Given the description of an element on the screen output the (x, y) to click on. 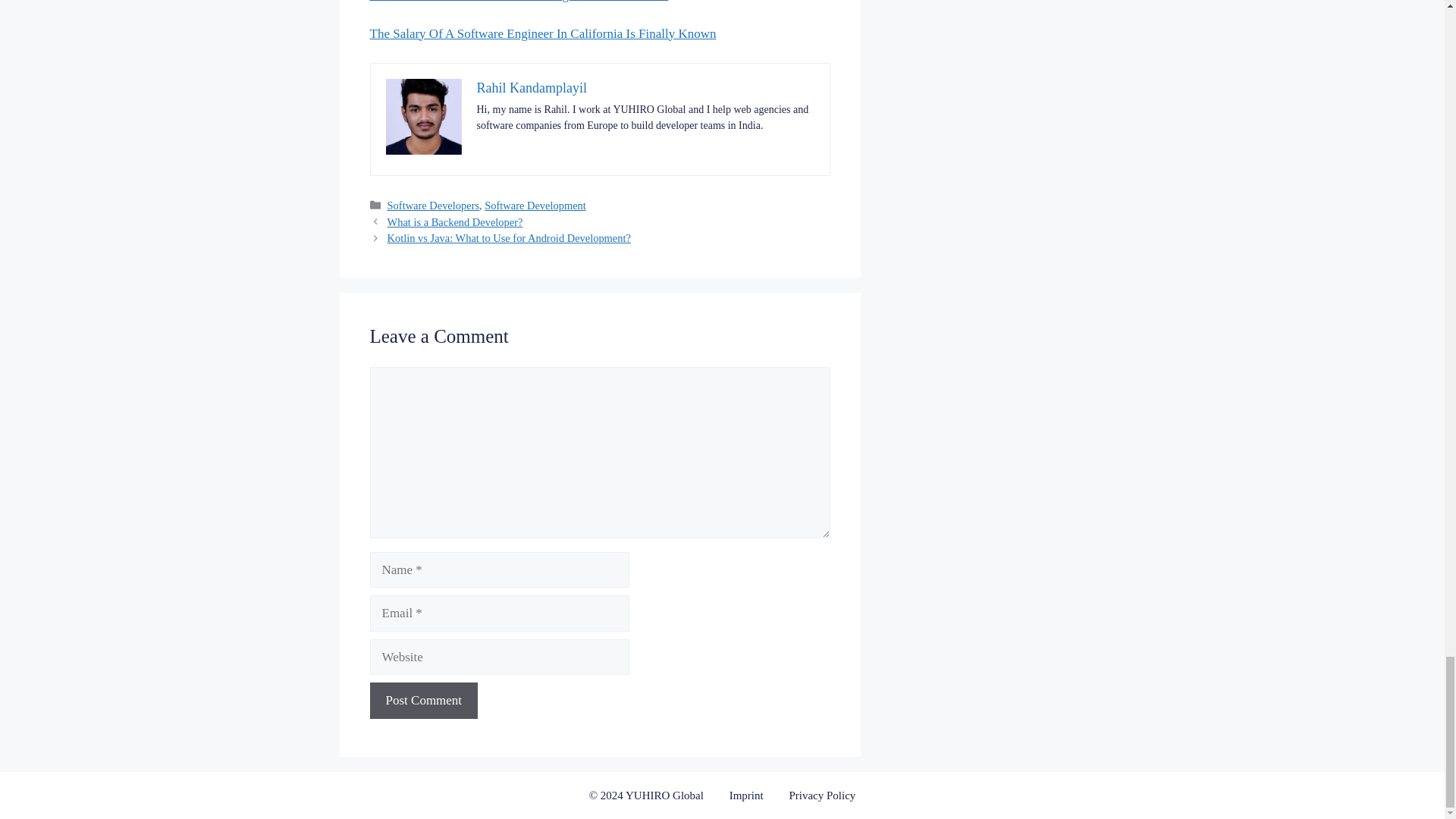
Software Developers (433, 205)
Rahil Kandamplayil (531, 87)
Post Comment (424, 700)
Software Development (535, 205)
What is a Backend Developer? (454, 222)
Kotlin vs Java: What to Use for Android Development? (508, 237)
Imprint (745, 795)
Privacy Policy (822, 795)
Post Comment (424, 700)
